Given the description of an element on the screen output the (x, y) to click on. 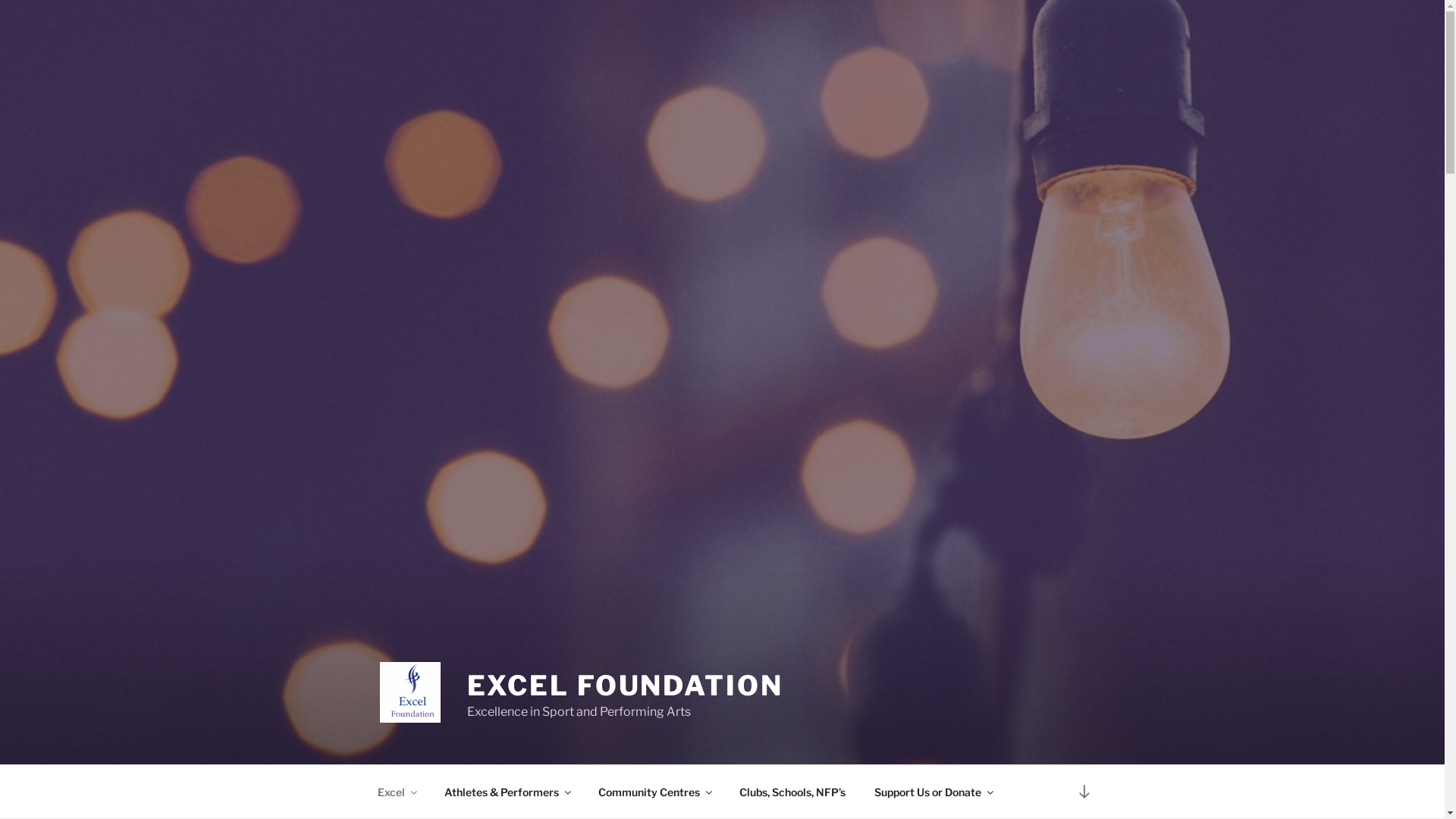
Athletes & Performers Element type: text (506, 791)
Excel Element type: text (396, 791)
Support Us or Donate Element type: text (933, 791)
Community Centres Element type: text (654, 791)
Skip to content Element type: text (0, 0)
EXCEL FOUNDATION Element type: text (625, 685)
Scroll down to content Element type: text (1083, 790)
